Given the description of an element on the screen output the (x, y) to click on. 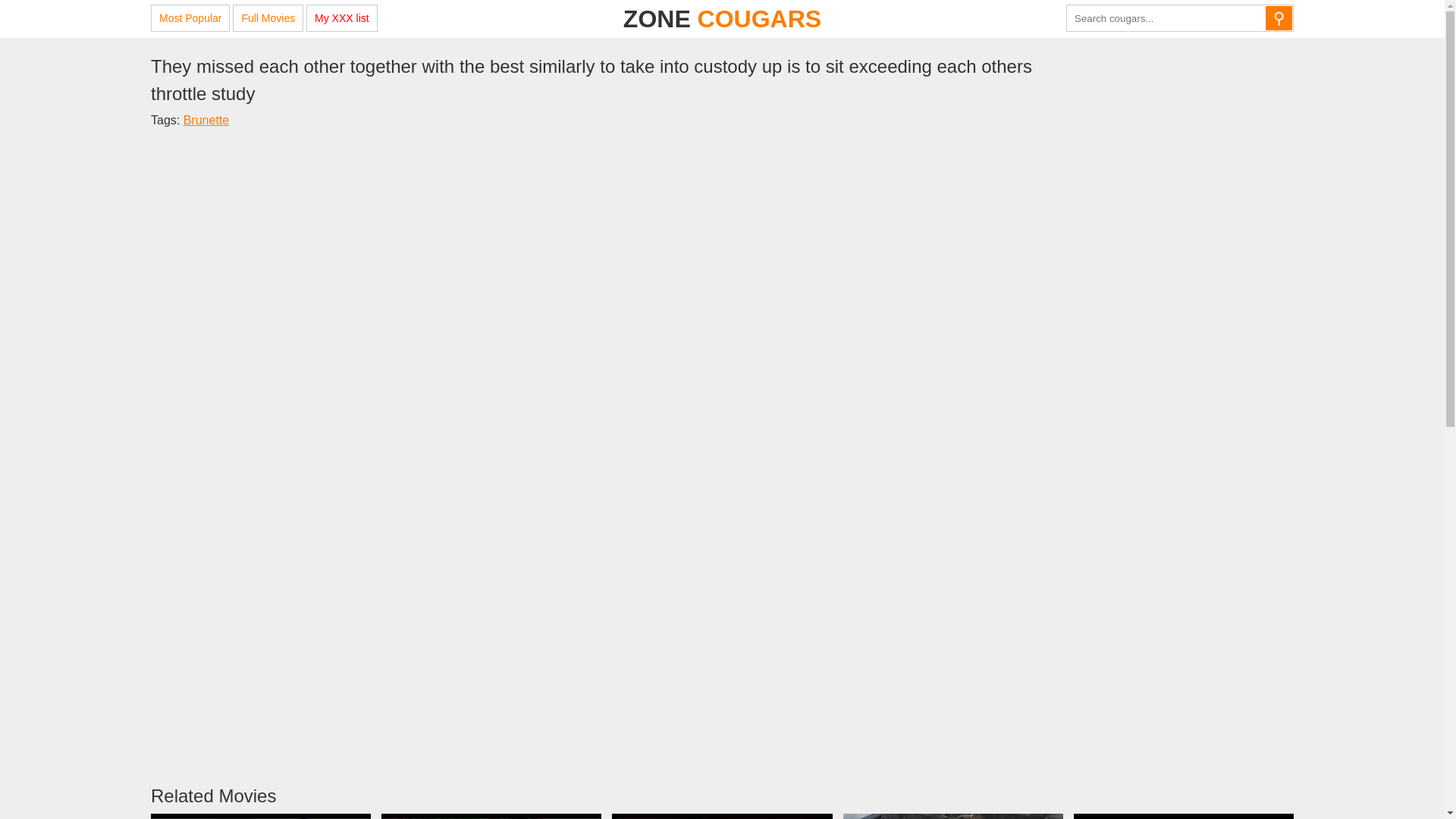
Faculties (261, 816)
ZONE COUGARS (722, 18)
Most Popular (190, 17)
My XXX list (341, 17)
Full Movies (267, 17)
Brunette (205, 119)
